Given the description of an element on the screen output the (x, y) to click on. 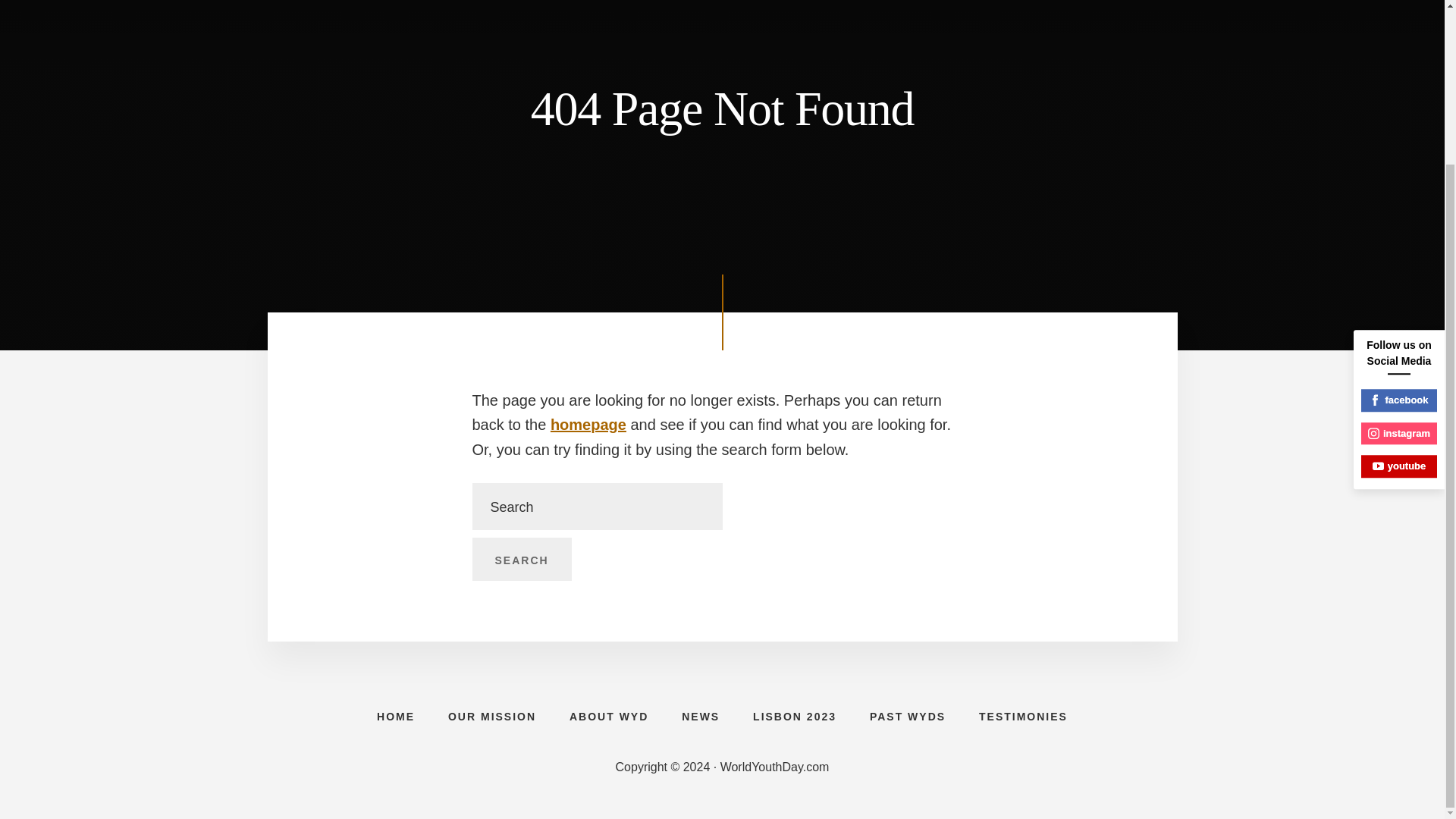
LISBON 2023 (794, 716)
Search (520, 559)
ABOUT WYD (608, 716)
TESTIMONIES (1023, 716)
facebook (1399, 204)
HOME (395, 716)
NEWS (700, 716)
OUR MISSION (491, 716)
PAST WYDS (907, 716)
Search (520, 559)
